Given the description of an element on the screen output the (x, y) to click on. 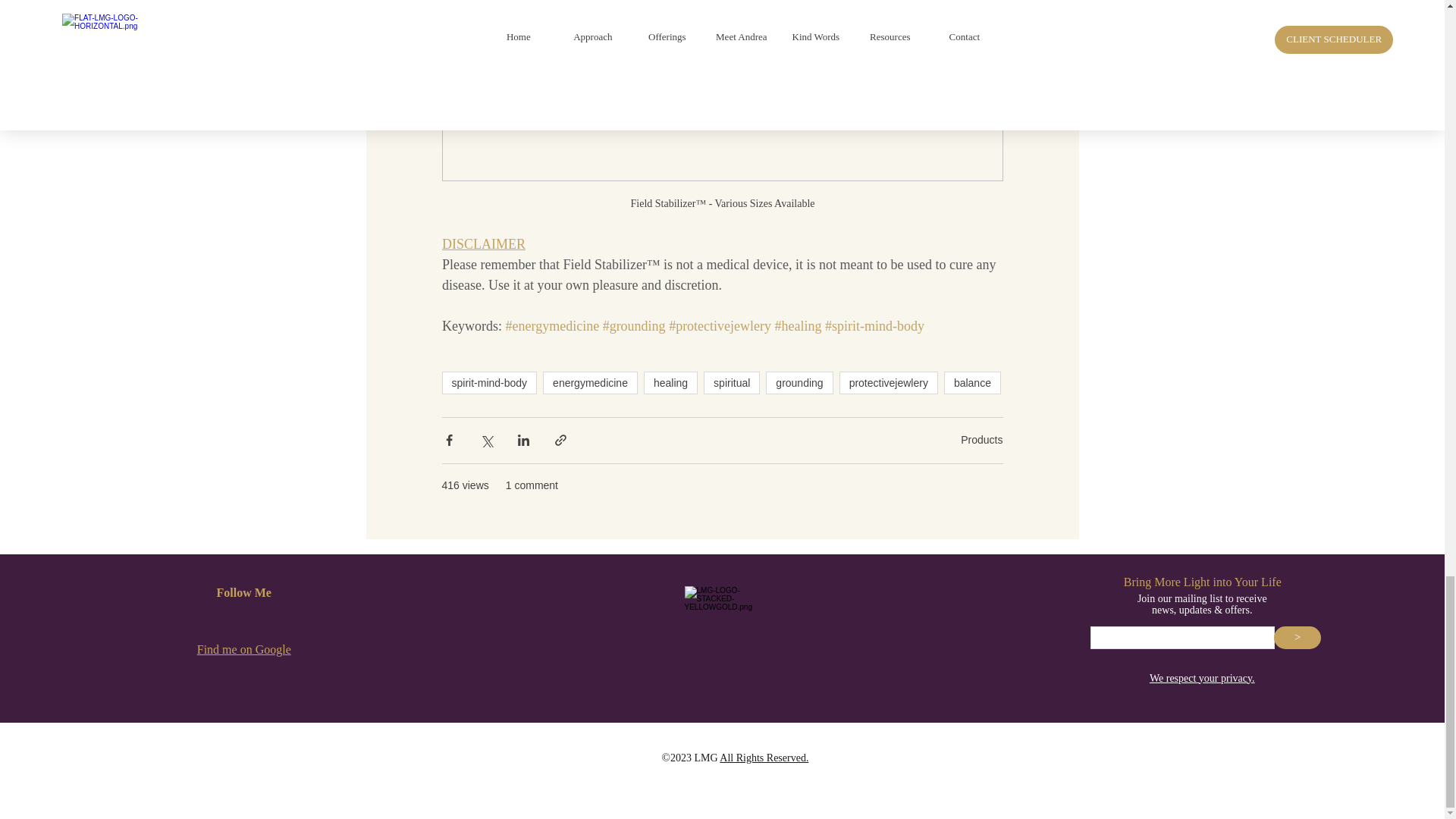
spiritual (731, 382)
grounding (798, 382)
Products (981, 439)
energymedicine (590, 382)
Luce Mia Group (730, 623)
healing (670, 382)
balance (972, 382)
spirit-mind-body (489, 382)
DISCLAIMER (482, 243)
protectivejewlery (888, 382)
